Given the description of an element on the screen output the (x, y) to click on. 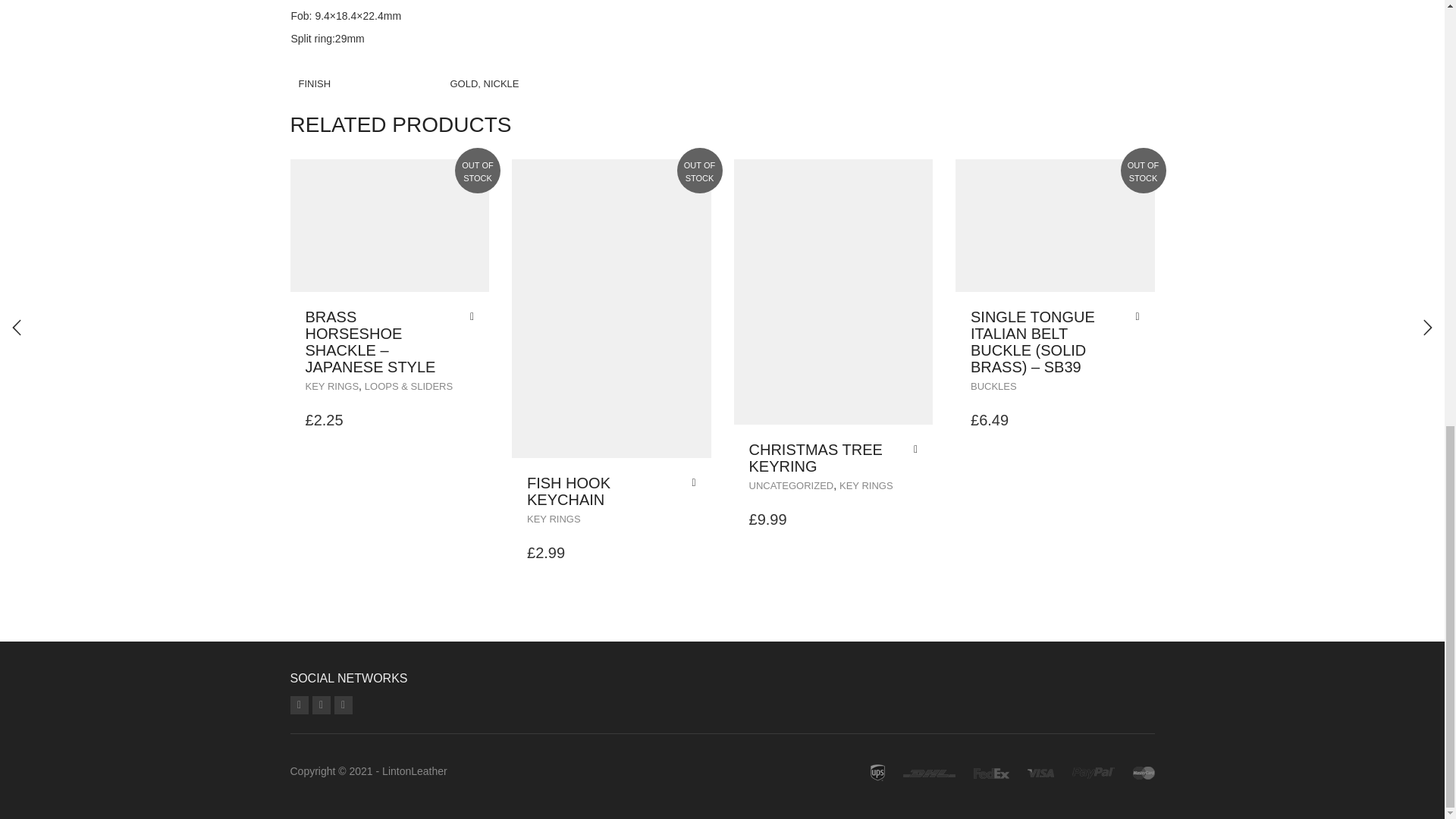
YouTube (321, 705)
Instagram (298, 705)
Facebook (342, 705)
